Given the description of an element on the screen output the (x, y) to click on. 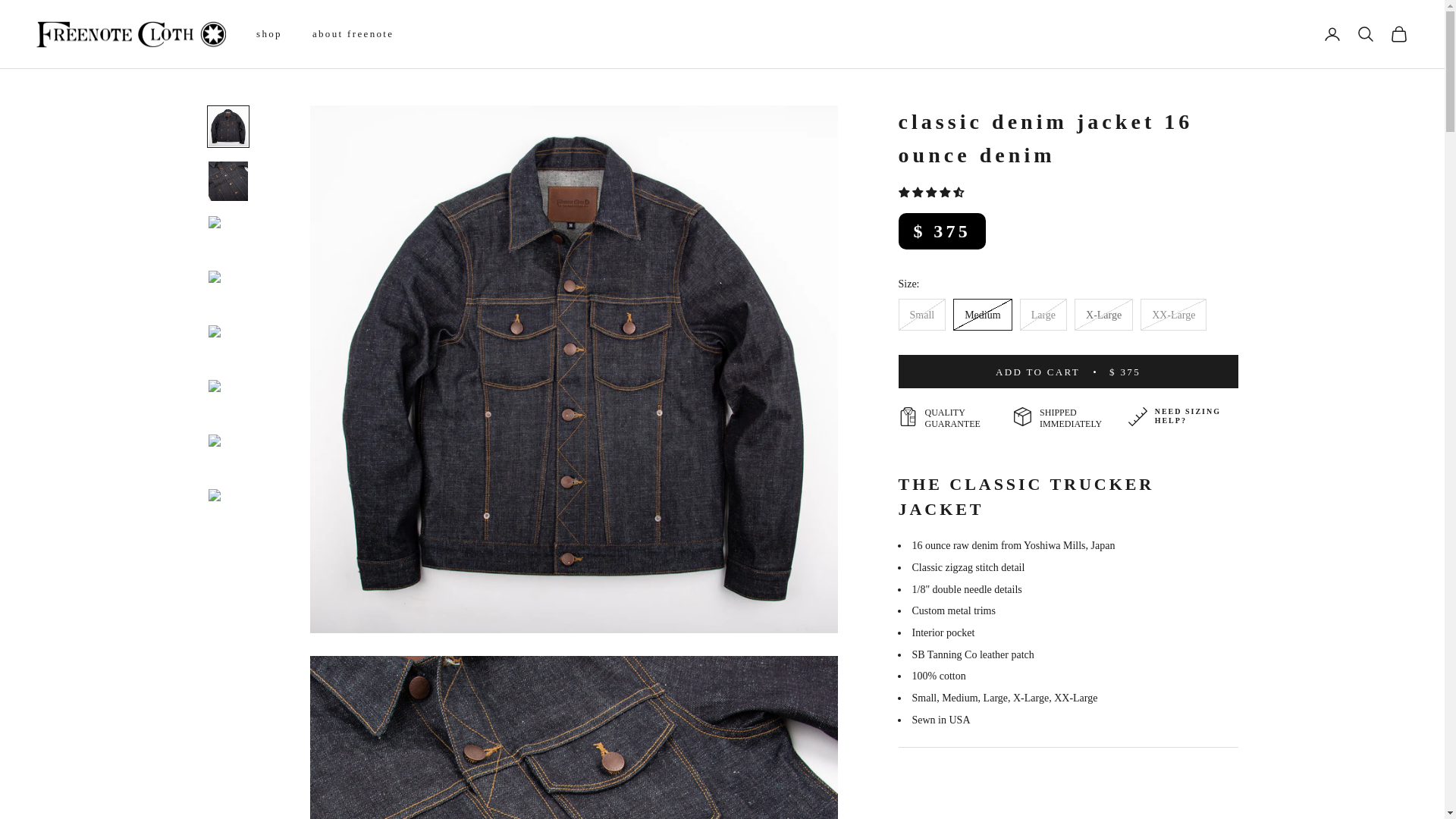
Open account page (1331, 34)
Open search (1365, 34)
Freenote Cloth (130, 34)
Open cart (1398, 34)
